Given the description of an element on the screen output the (x, y) to click on. 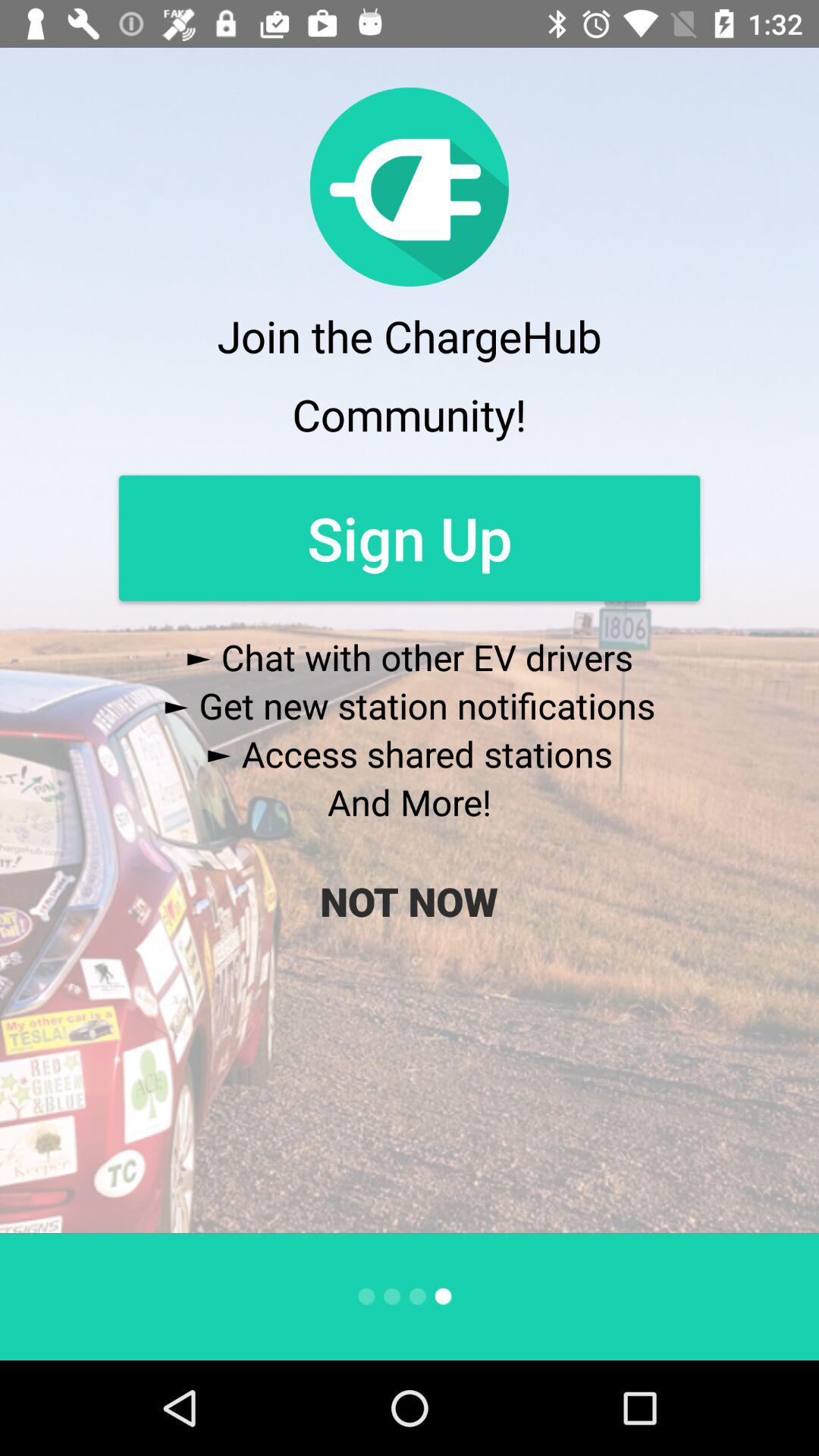
choose the sign up (409, 538)
